Given the description of an element on the screen output the (x, y) to click on. 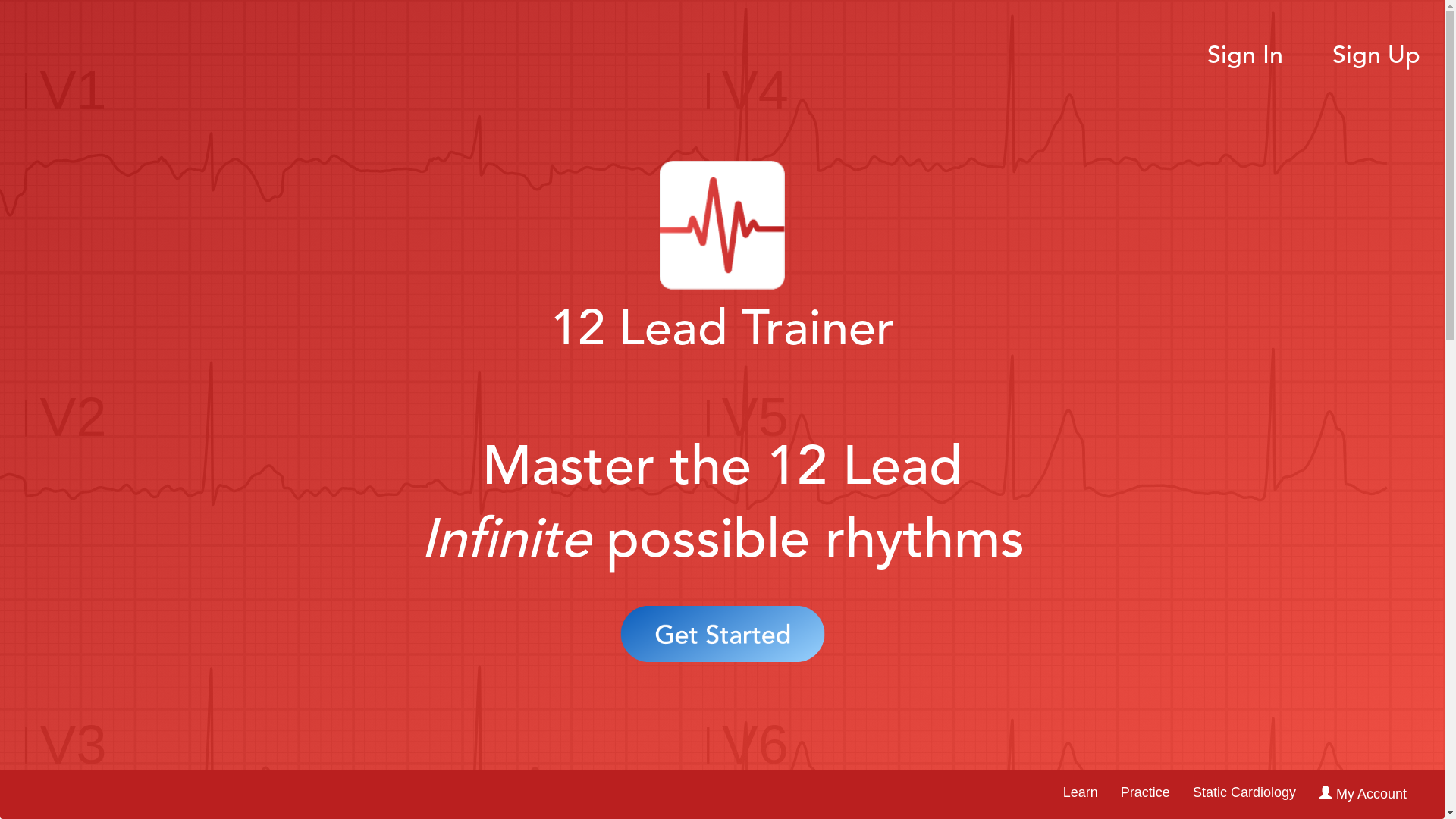
Sign In Element type: text (1245, 56)
Sign Up Element type: text (1376, 56)
